Given the description of an element on the screen output the (x, y) to click on. 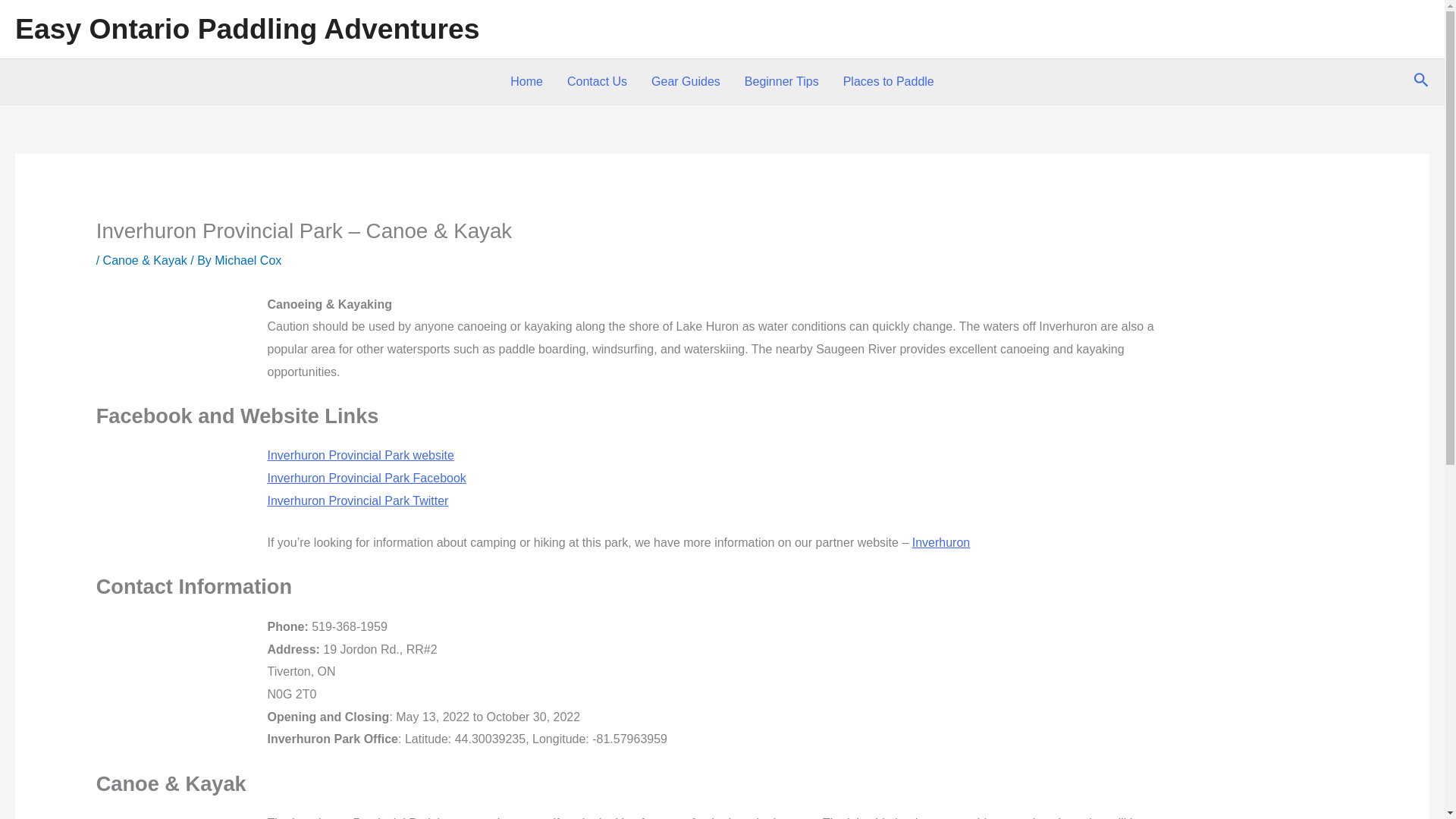
Michael Cox (247, 259)
Home (525, 81)
Beginner Tips (781, 81)
Inverhuron Provincial Park Twitter (357, 500)
Contact Us (596, 81)
Easy Ontario Paddling Adventures (247, 29)
Search (1421, 81)
View all posts by Michael Cox (247, 259)
Inverhuron (941, 542)
Gear Guides (685, 81)
Inverhuron Provincial Park Facebook (365, 477)
Places to Paddle (888, 81)
Inverhuron Provincial Park website (359, 454)
